Given the description of an element on the screen output the (x, y) to click on. 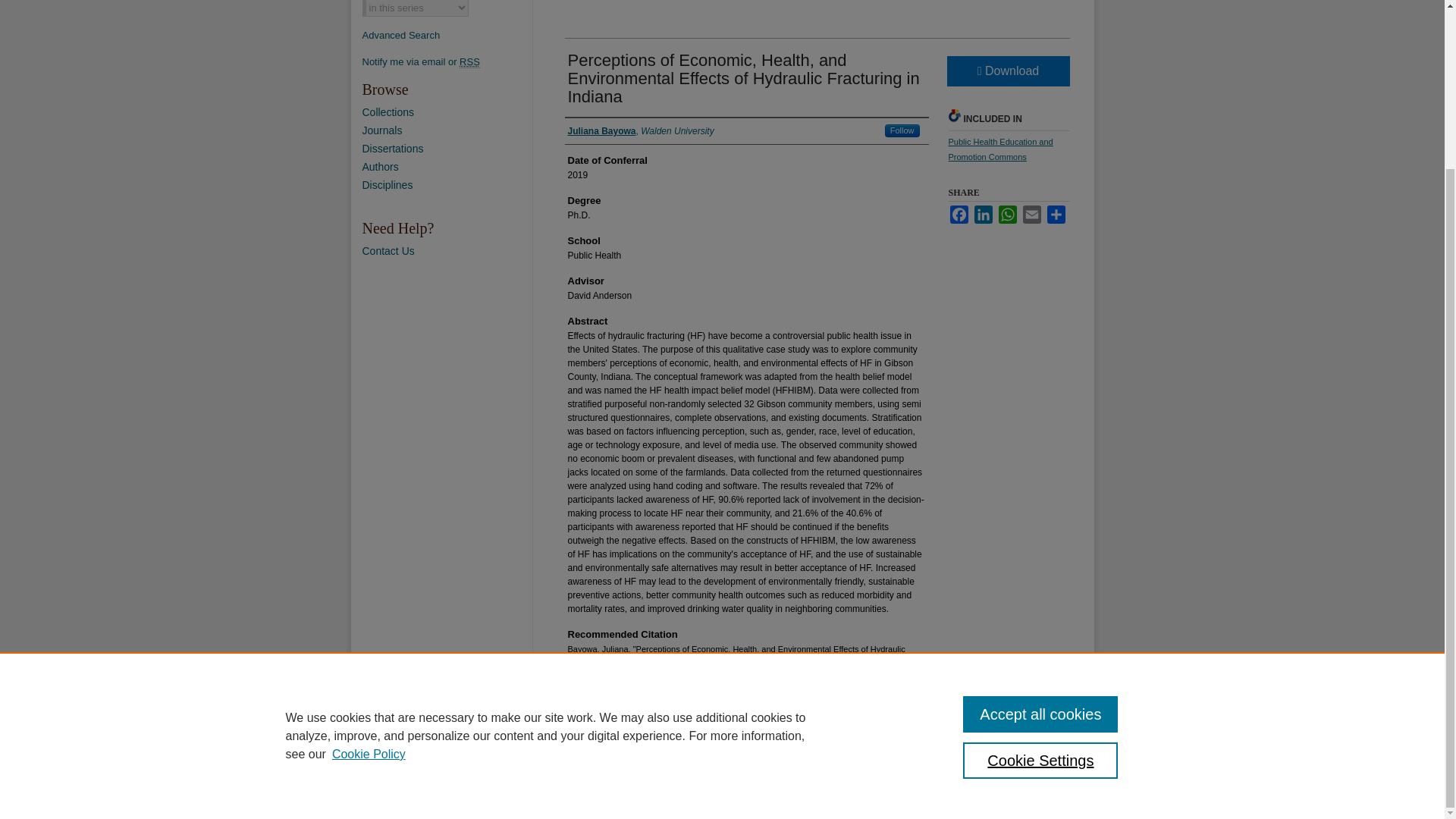
Email (1031, 214)
Notify me via email or RSS (447, 61)
Advanced Search (401, 34)
Share (1055, 214)
Collections (447, 111)
WhatsApp (1006, 214)
LinkedIn (982, 214)
Follow (902, 130)
Dissertations (447, 148)
Disciplines (447, 184)
Juliana Bayowa, Walden University (640, 131)
Really Simple Syndication (470, 61)
Public Health Education and Promotion Commons (999, 149)
Download (1007, 71)
Browse by Collections (447, 111)
